Given the description of an element on the screen output the (x, y) to click on. 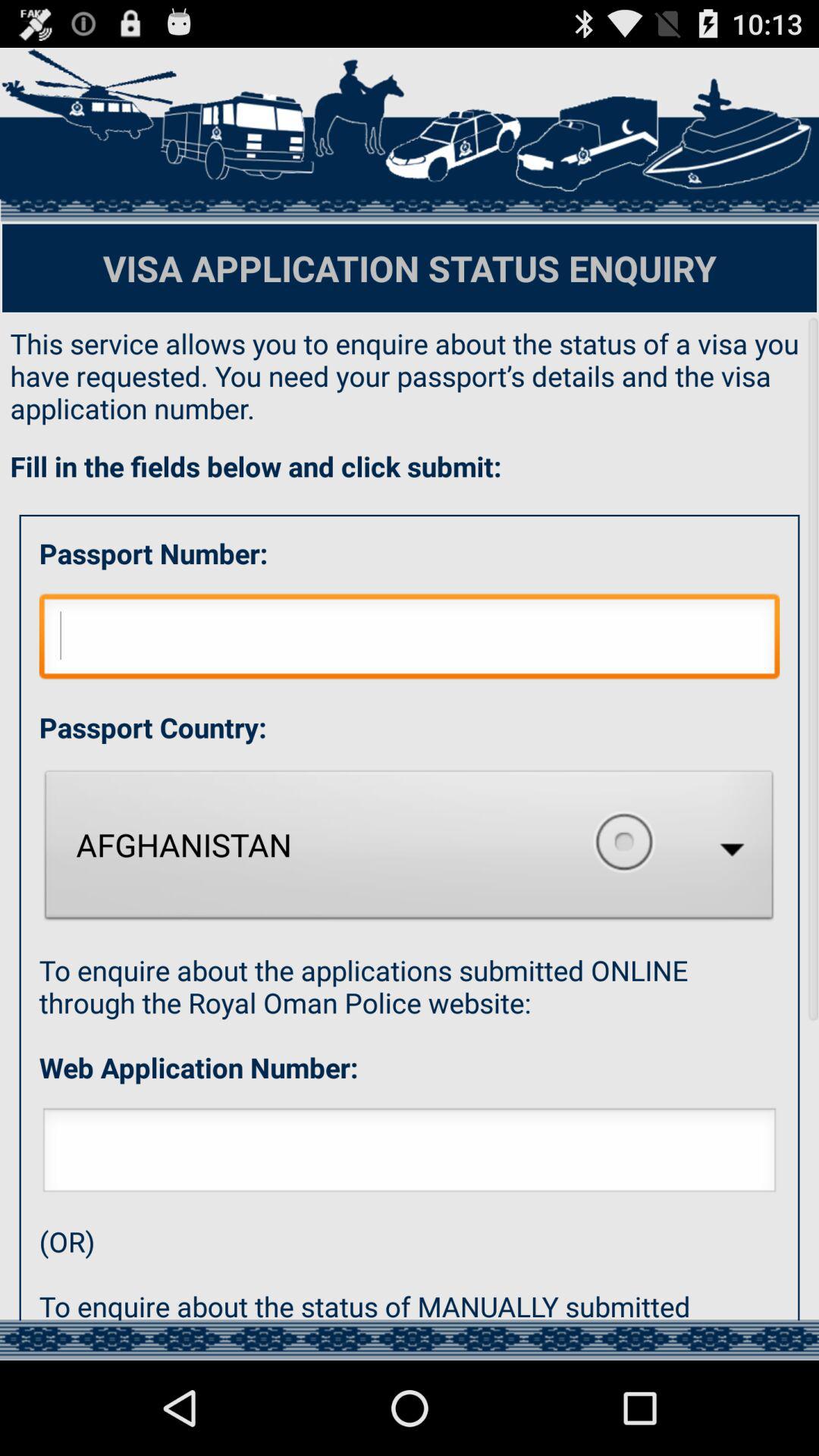
shows web application number (409, 1154)
